Given the description of an element on the screen output the (x, y) to click on. 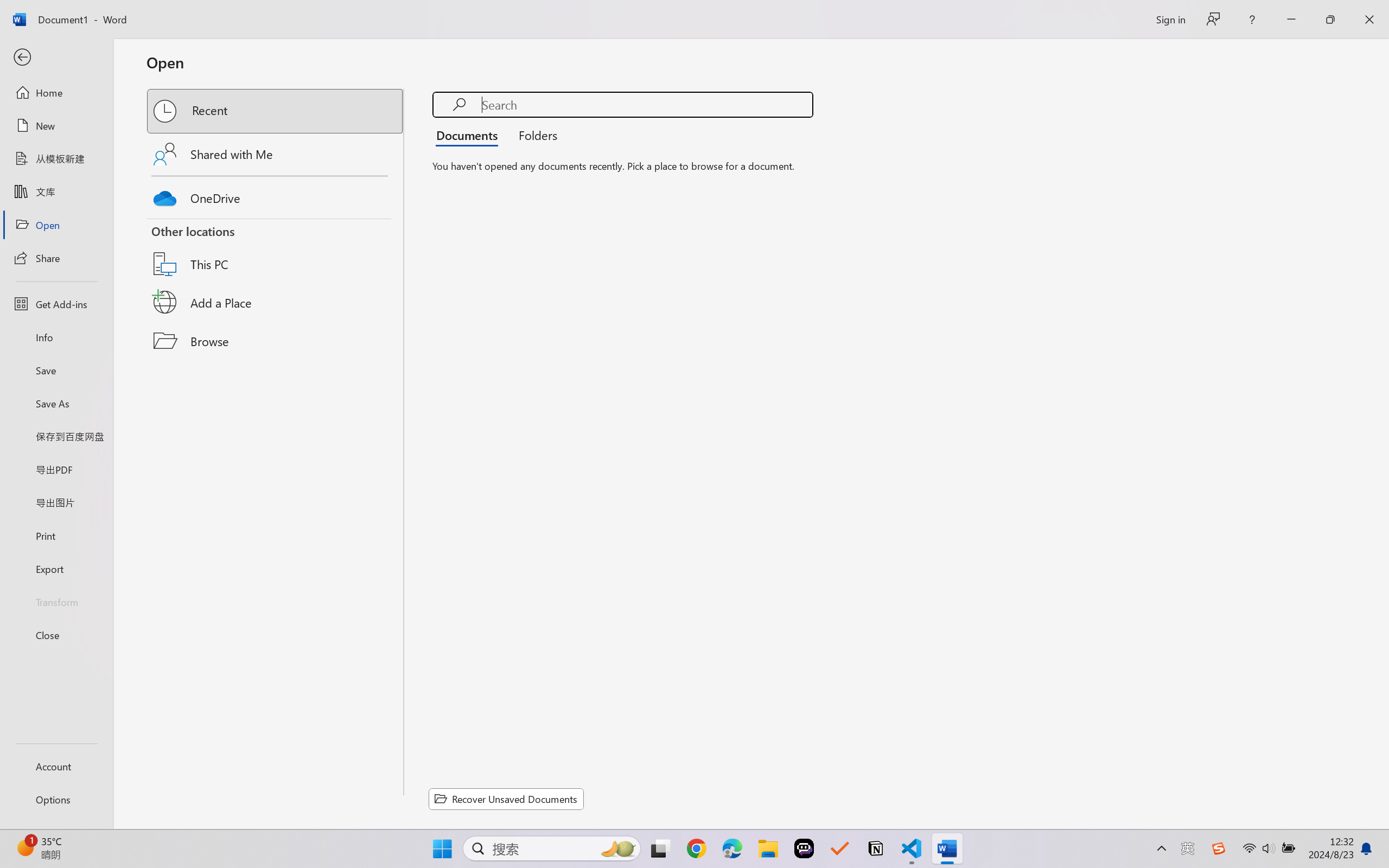
Print (56, 535)
Account (56, 765)
Browse (275, 340)
Shared with Me (275, 153)
Save As (56, 403)
